Given the description of an element on the screen output the (x, y) to click on. 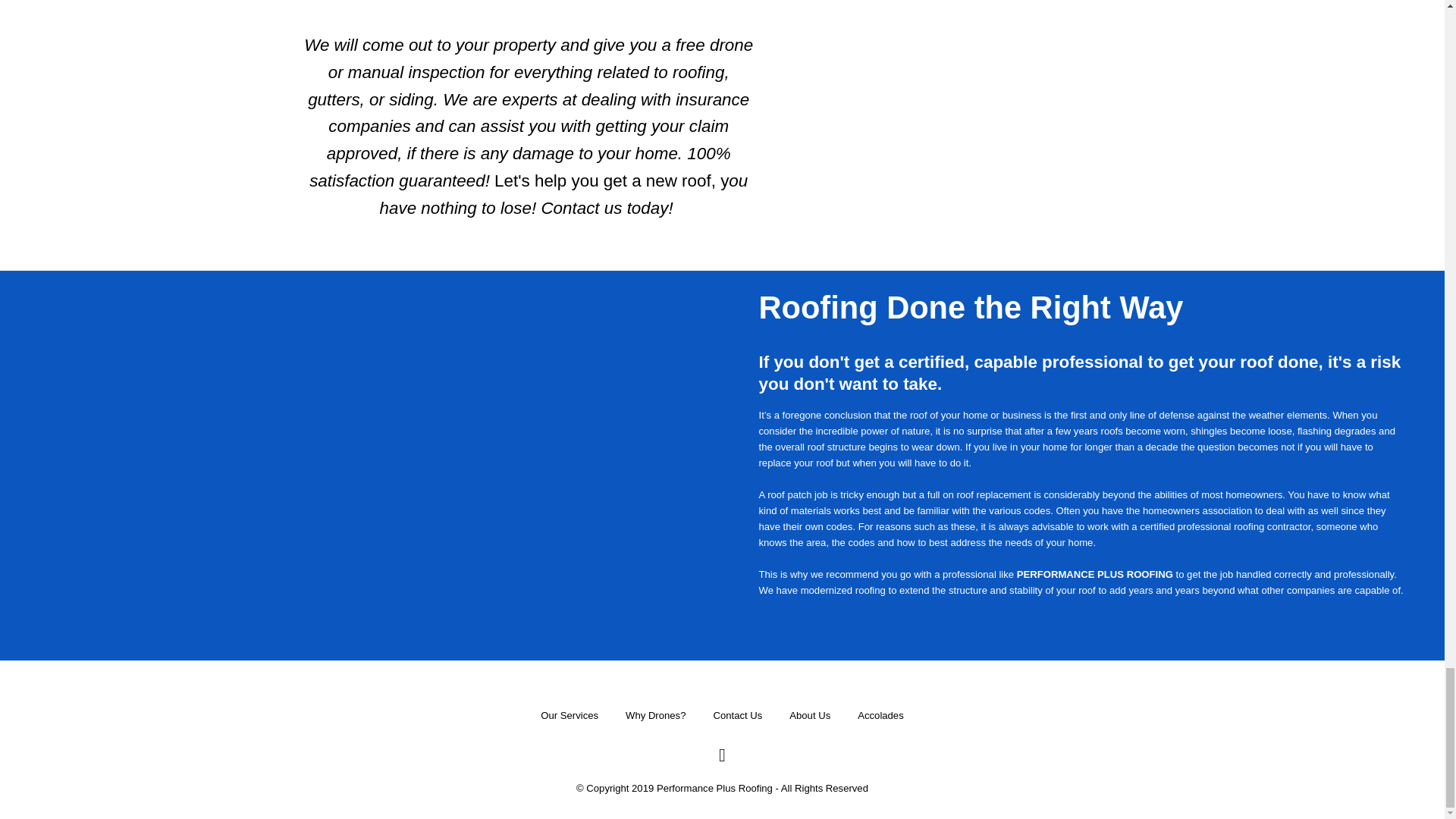
Our Services (569, 715)
Contact Us (737, 715)
About Us (809, 715)
Why Drones? (655, 715)
Accolades (879, 715)
